Given the description of an element on the screen output the (x, y) to click on. 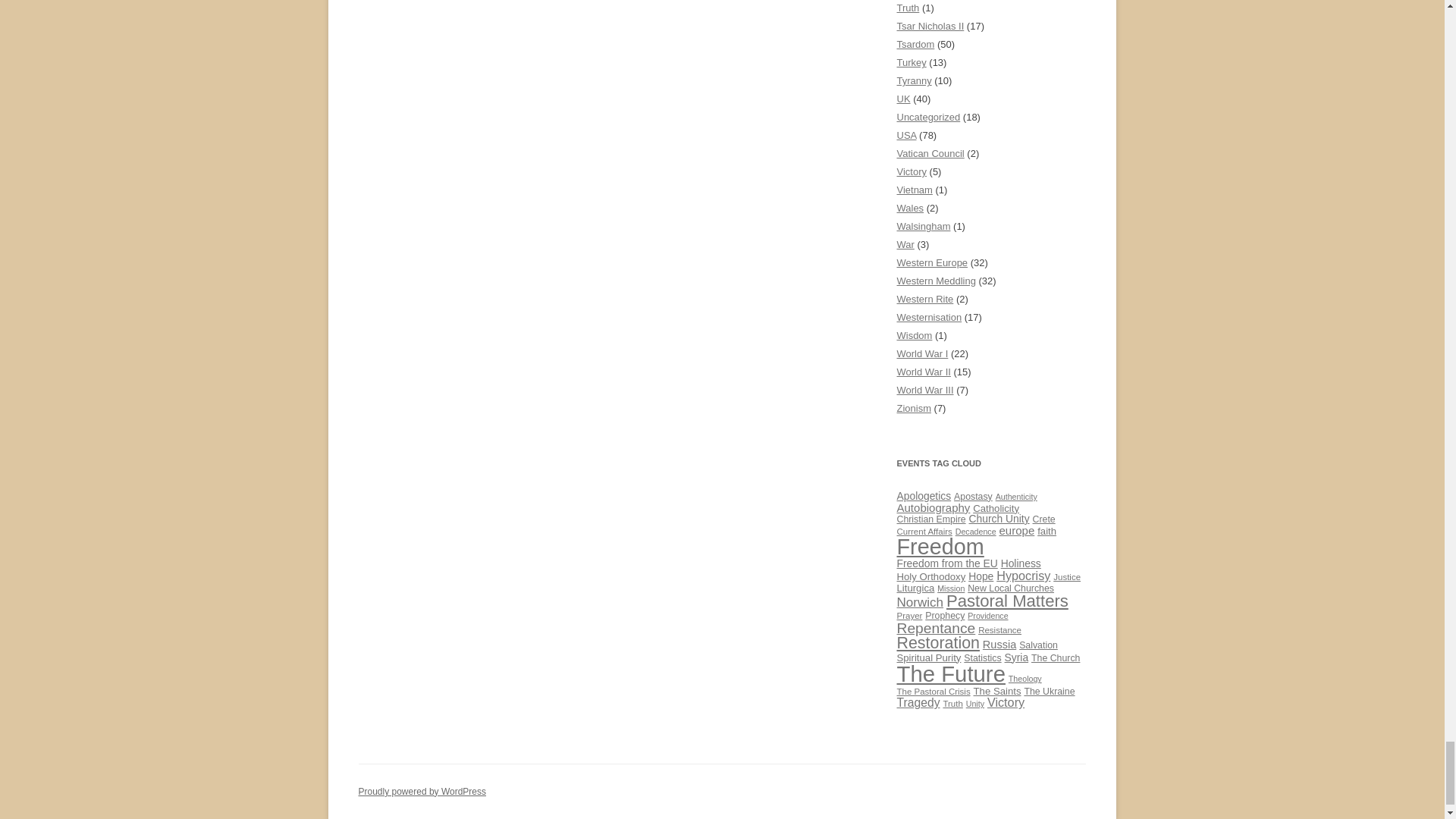
Semantic Personal Publishing Platform (422, 791)
